Given the description of an element on the screen output the (x, y) to click on. 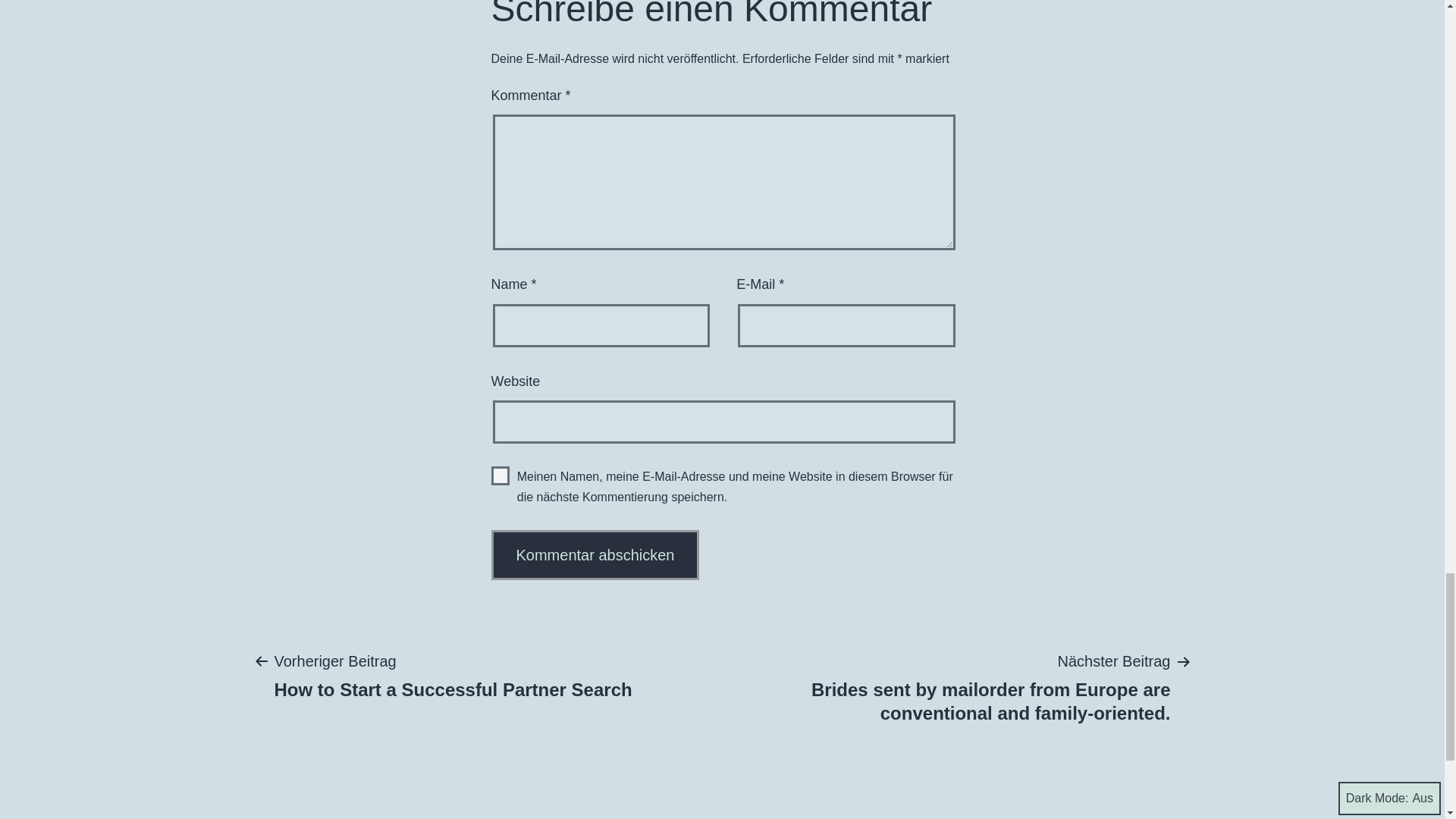
yes (500, 475)
Kommentar abschicken (452, 674)
Kommentar abschicken (596, 554)
